Given the description of an element on the screen output the (x, y) to click on. 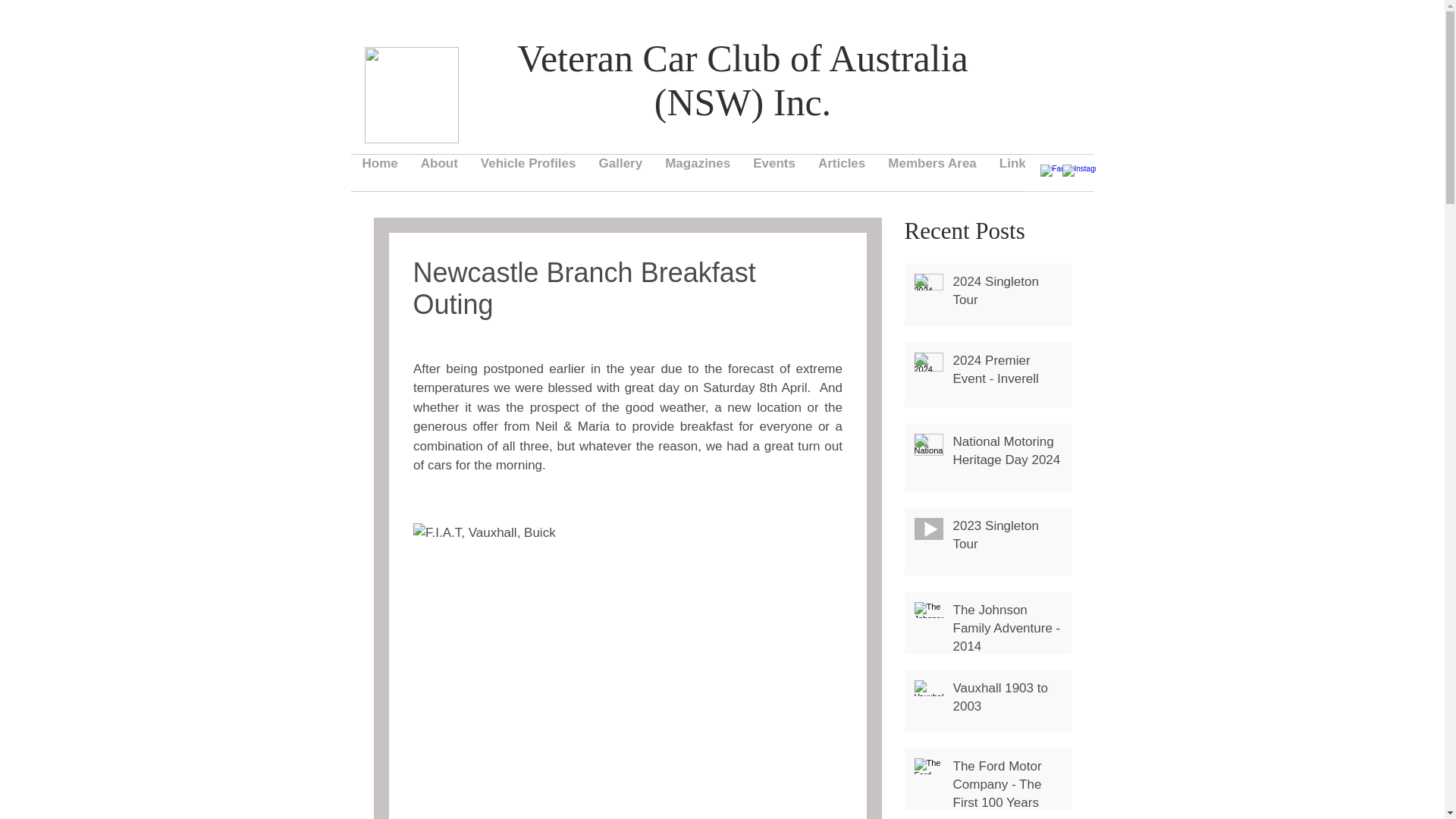
Members Area (932, 172)
Vehicle Profiles (528, 172)
2023 Singleton Tour (1006, 537)
2024 Singleton Tour (1006, 293)
Home (379, 172)
Articles (841, 172)
Magazines (697, 172)
About (438, 172)
Veteran Car Club of Australia (742, 57)
Gallery (620, 172)
